Given the description of an element on the screen output the (x, y) to click on. 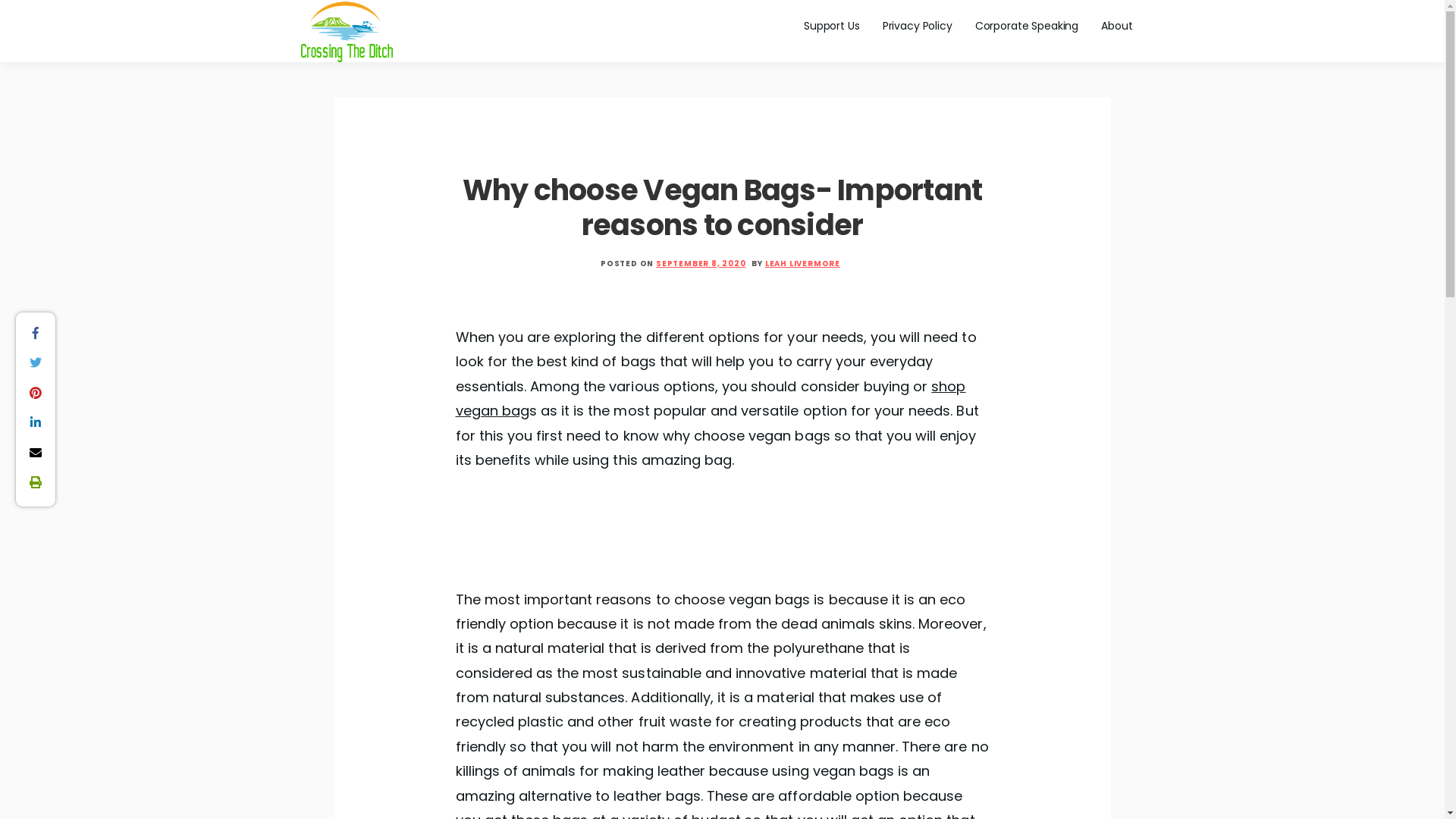
Submit this to Pinterest Element type: hover (35, 391)
Privacy Policy Element type: text (917, 25)
Email this  Element type: hover (35, 451)
Corporate Speaking Element type: text (1026, 25)
Print this article  Element type: hover (35, 482)
About Element type: text (1116, 25)
Add this to LinkedIn Element type: hover (35, 421)
Skip to content Element type: text (0, 0)
Tweet this ! Element type: hover (35, 362)
shop vegan bag Element type: text (710, 398)
LEAH LIVERMORE Element type: text (802, 263)
Share this on Facebook Element type: hover (35, 332)
Support Us Element type: text (831, 25)
SEPTEMBER 8, 2020 Element type: text (700, 263)
